Given the description of an element on the screen output the (x, y) to click on. 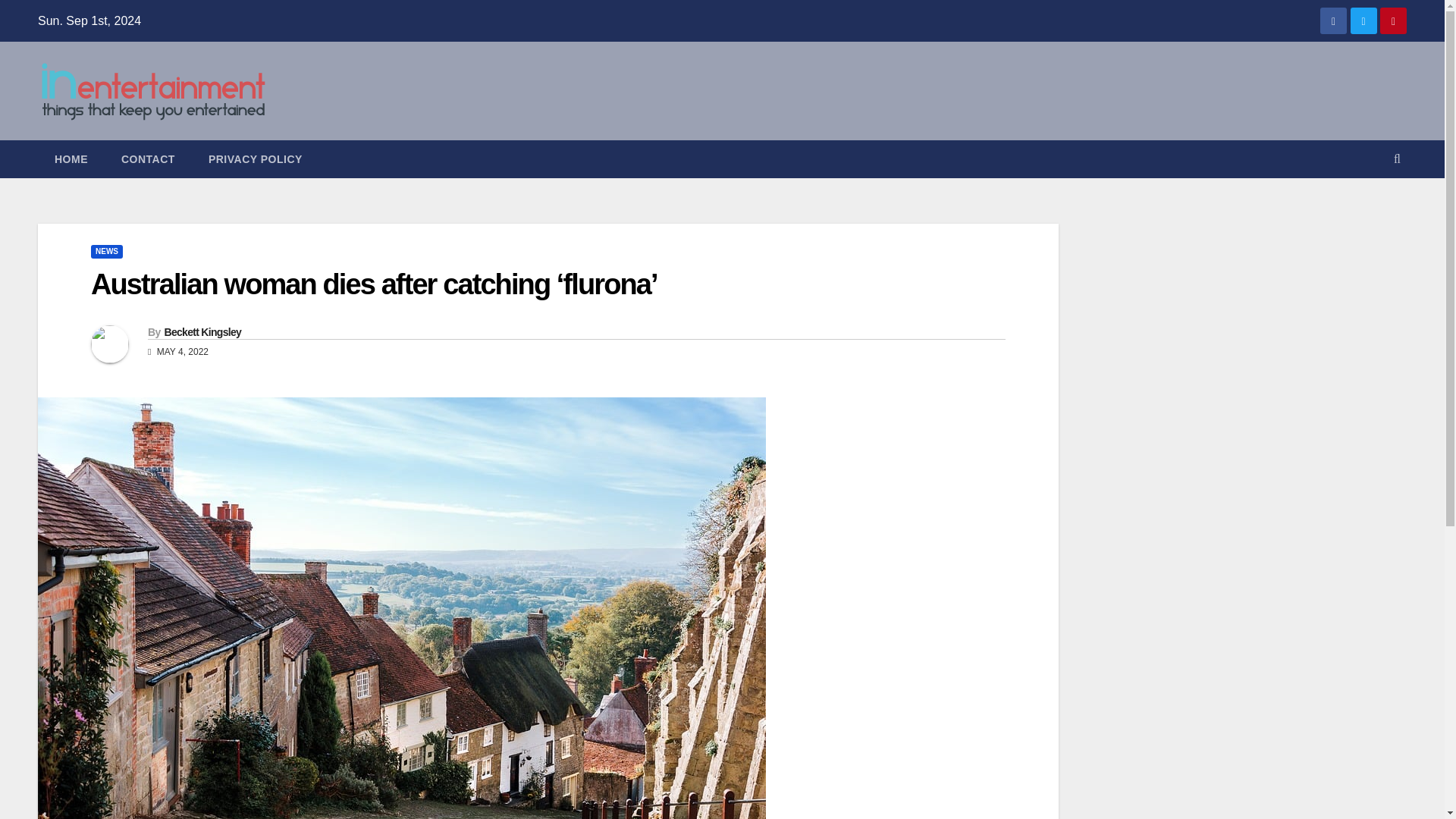
CONTACT (148, 159)
NEWS (106, 251)
PRIVACY POLICY (255, 159)
Beckett Kingsley (202, 331)
HOME (70, 159)
Home (70, 159)
